Given the description of an element on the screen output the (x, y) to click on. 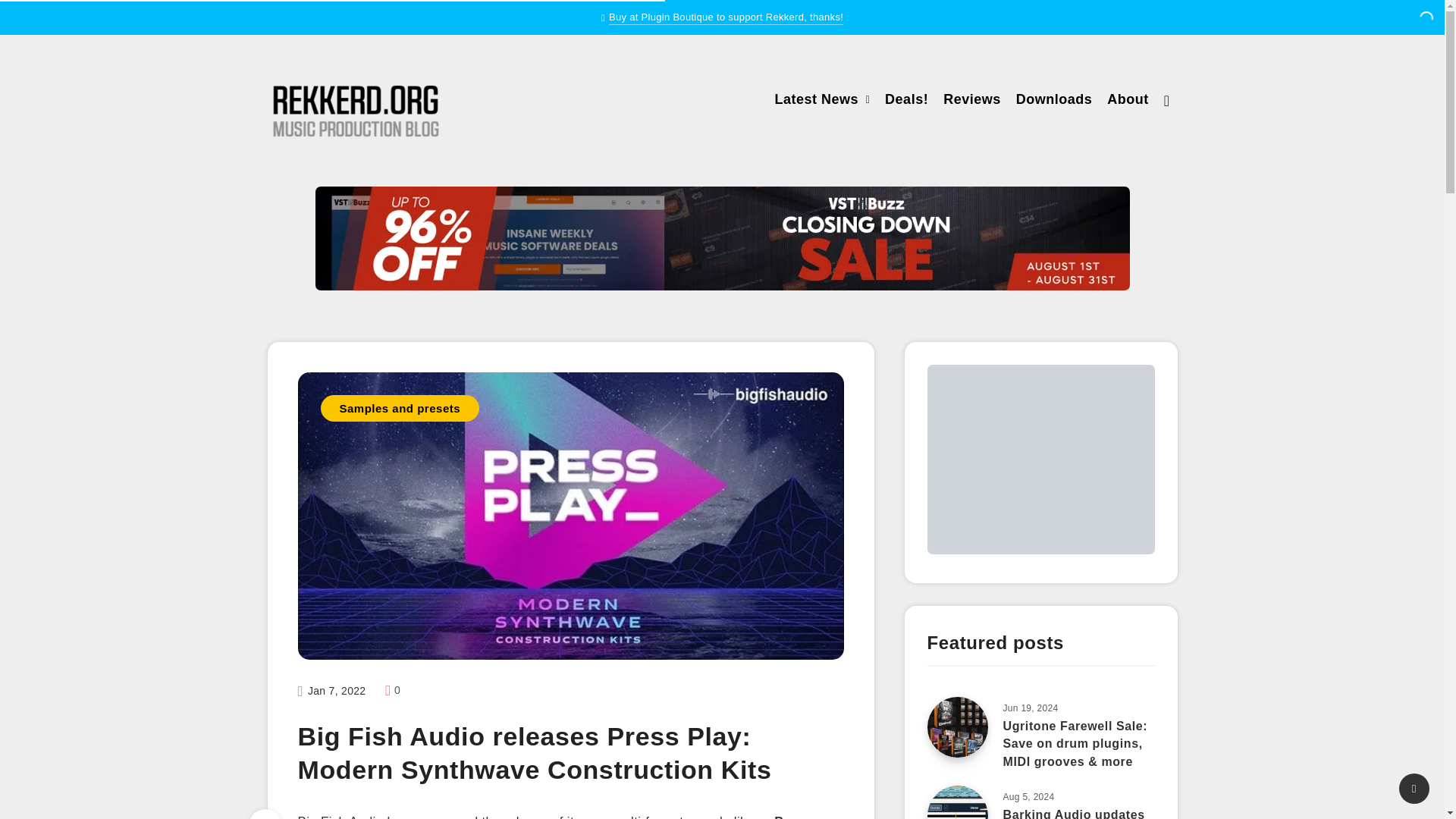
Reviews (972, 101)
About (1127, 101)
0 (392, 689)
Buy at Plugin Boutique to support Rekkerd, thanks! (725, 17)
Samples and presets (399, 407)
Downloads (1054, 101)
Deals! (906, 101)
Go to comments (392, 689)
Latest News (816, 101)
